Given the description of an element on the screen output the (x, y) to click on. 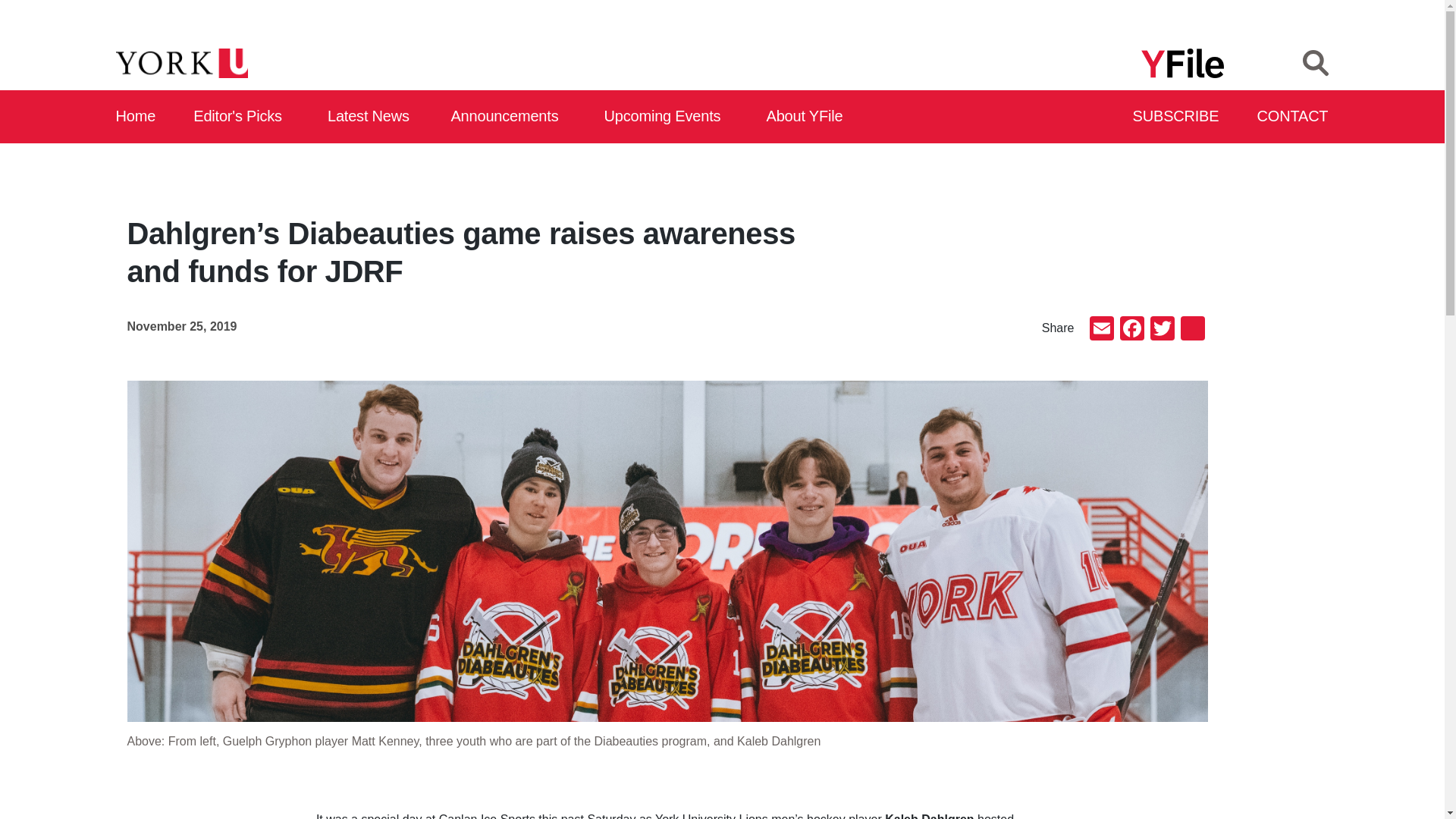
SUBSCRIBE (1176, 116)
LinkedIn (1191, 329)
Contact (1293, 116)
Editor's Picks (242, 116)
CONTACT (1293, 116)
Email (1101, 329)
Email (1101, 329)
Facebook (1131, 329)
Facebook (1131, 329)
About YFile (806, 116)
Home (136, 116)
Latest News (370, 116)
LinkedIn (1191, 329)
Announcements (508, 116)
About YFile (806, 116)
